Given the description of an element on the screen output the (x, y) to click on. 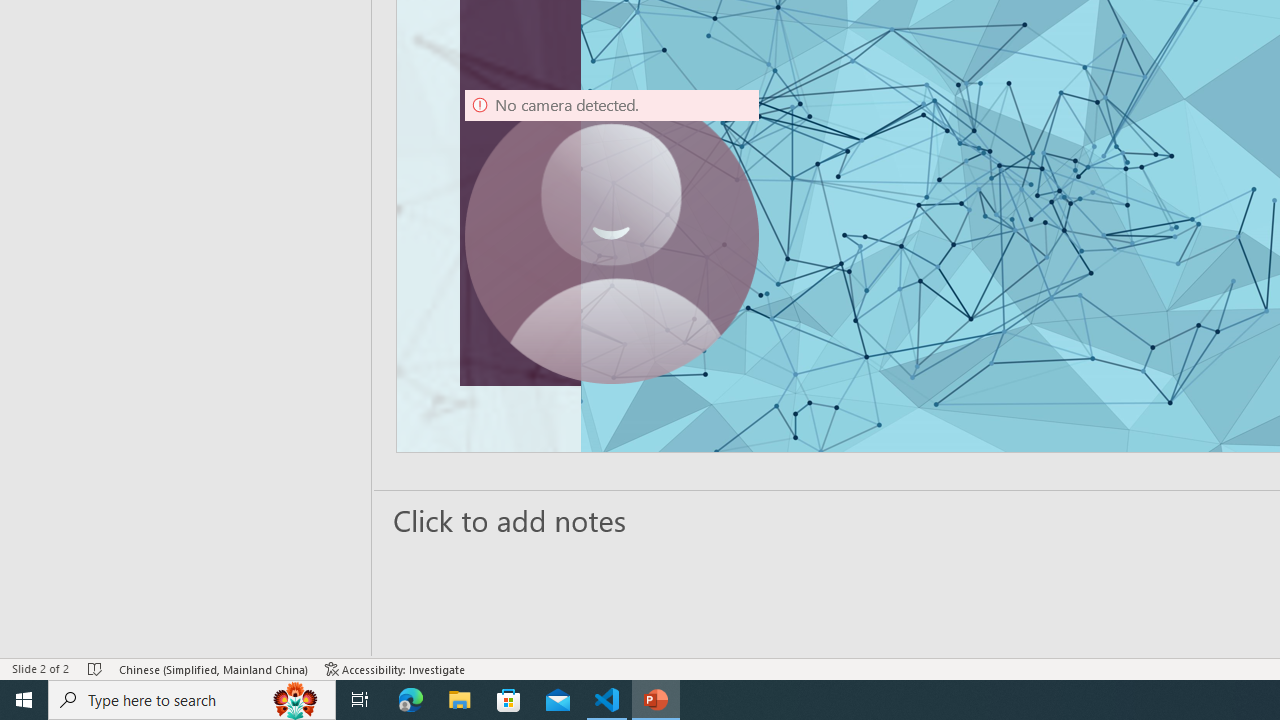
Camera 9, No camera detected. (612, 236)
